Given the description of an element on the screen output the (x, y) to click on. 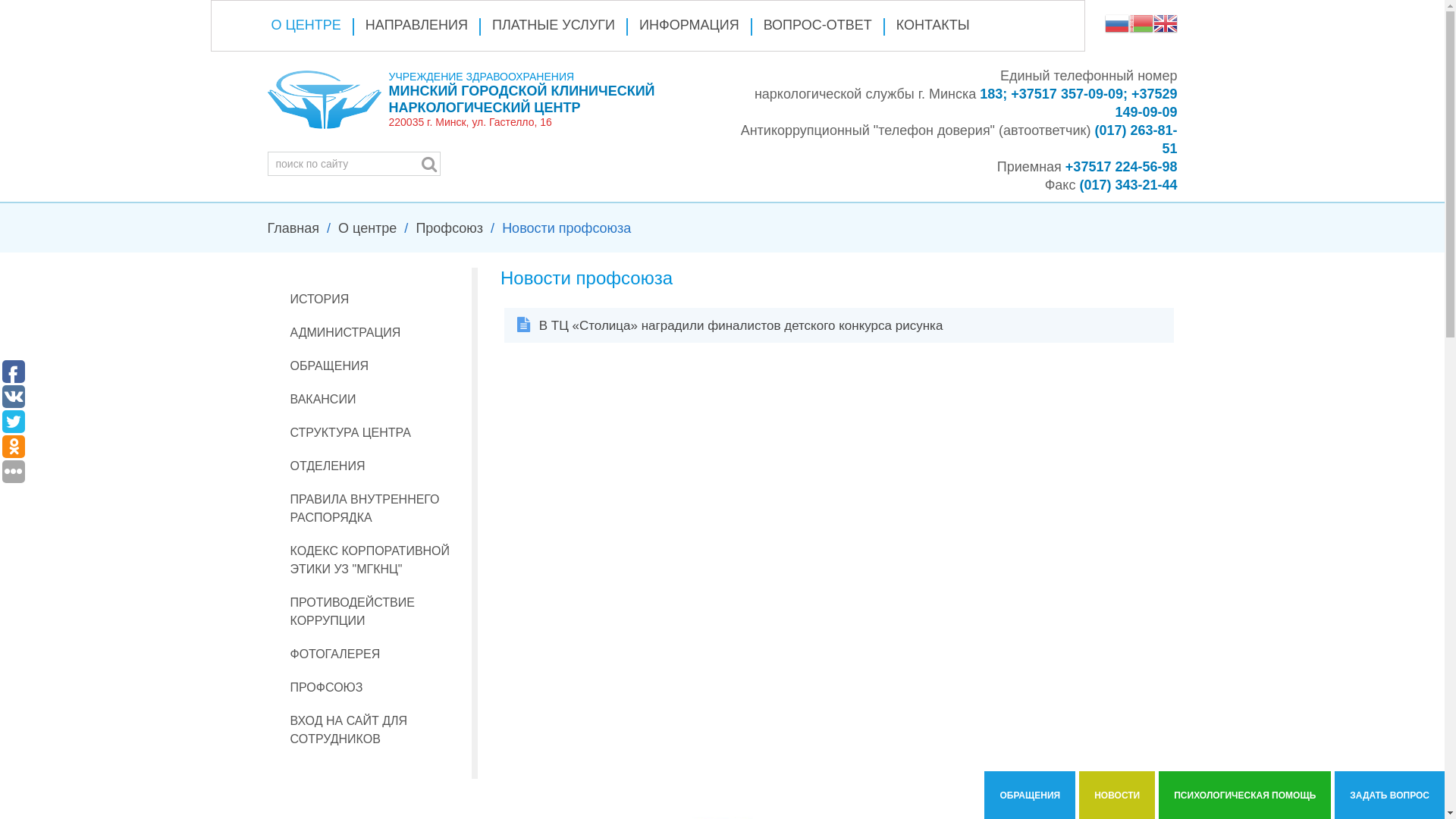
English Element type: hover (1164, 22)
Belarusian Element type: hover (1140, 22)
Russian Element type: hover (1116, 22)
